Given the description of an element on the screen output the (x, y) to click on. 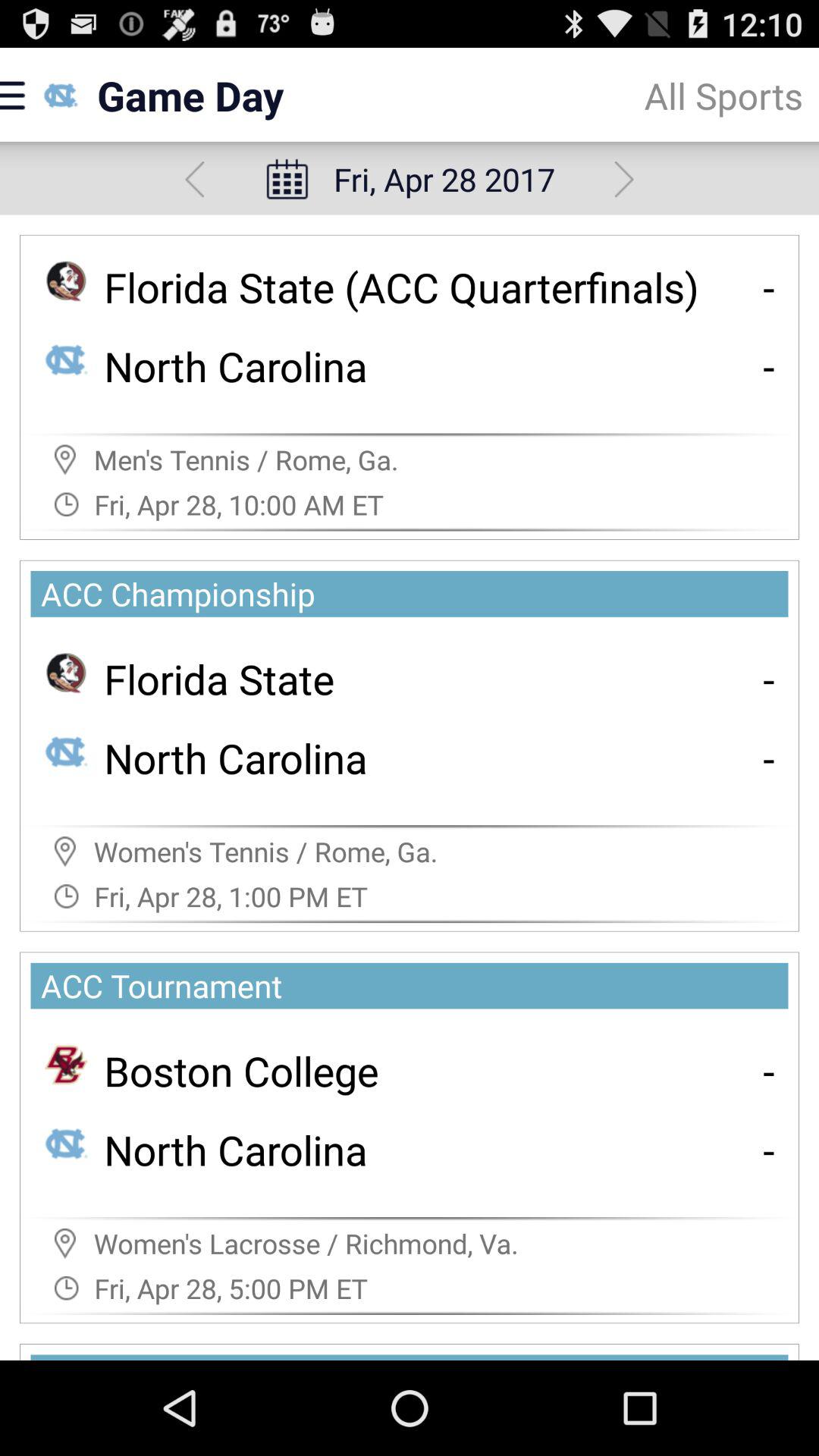
go to backward option (194, 178)
